Given the description of an element on the screen output the (x, y) to click on. 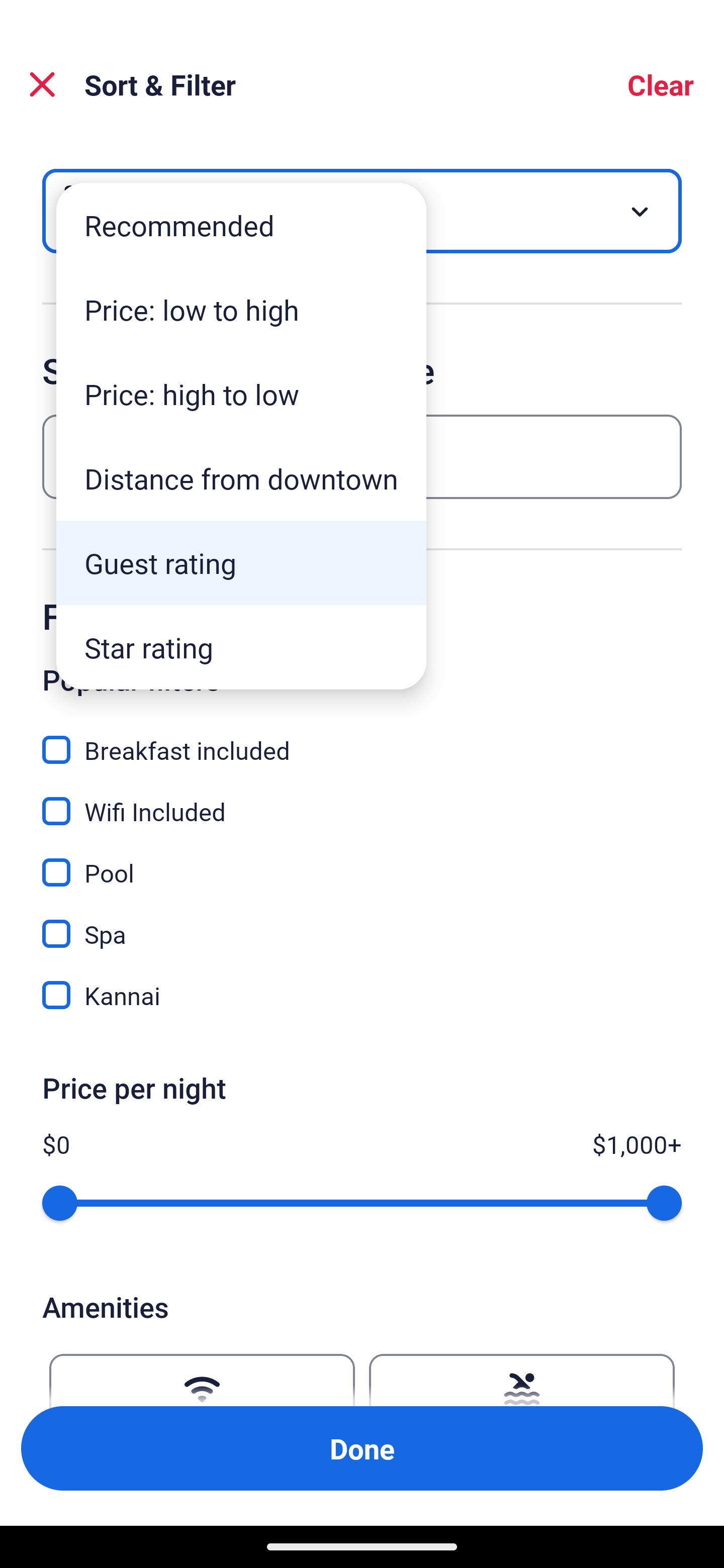
Recommended (241, 225)
Price: low to high (241, 309)
Price: high to low (241, 393)
Distance from downtown (241, 477)
Star rating (241, 647)
